Given the description of an element on the screen output the (x, y) to click on. 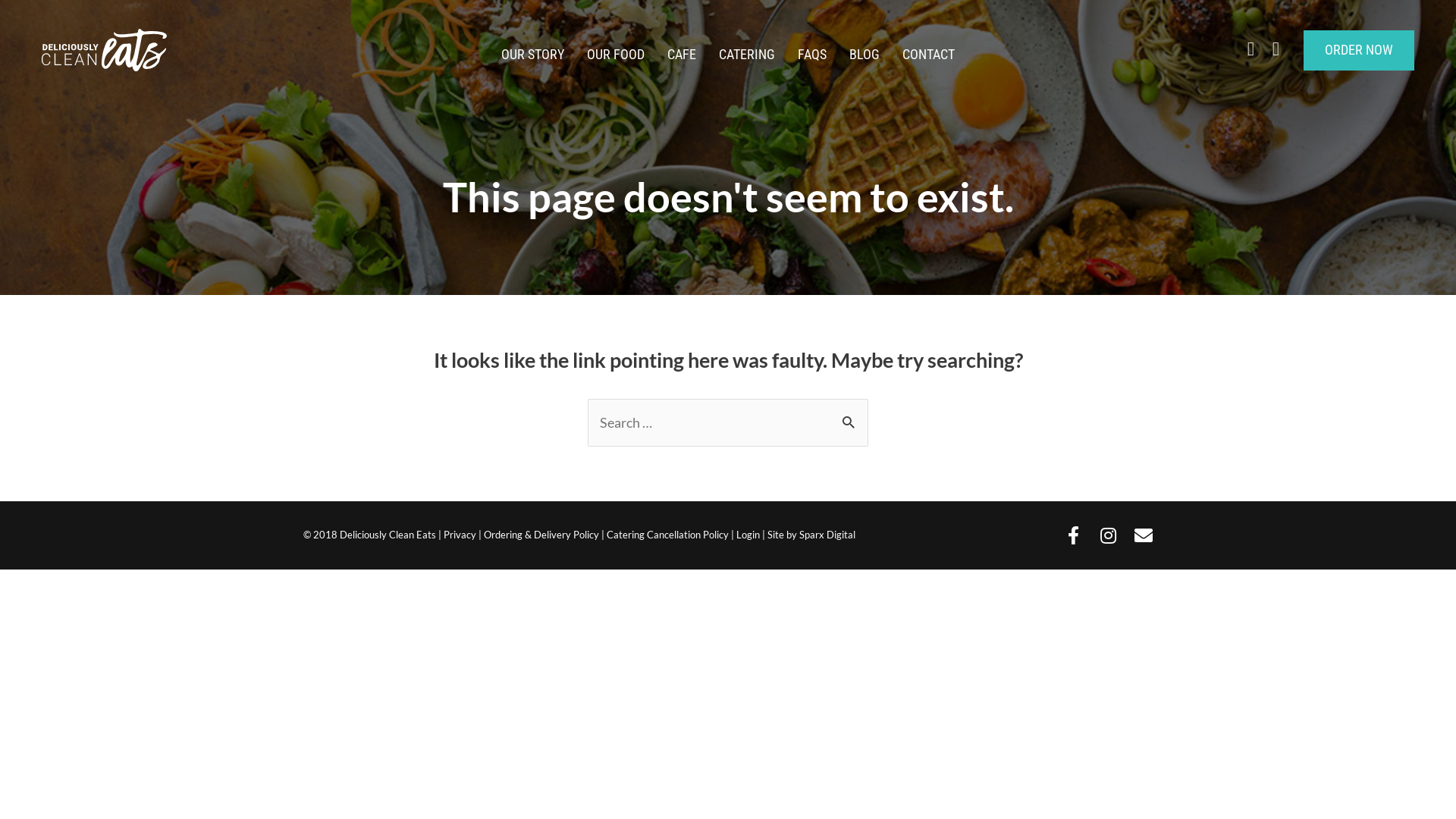
CAFE Element type: text (681, 54)
Search Element type: text (851, 420)
BLOG Element type: text (864, 54)
OUR STORY Element type: text (532, 54)
Login Element type: text (747, 534)
CATERING Element type: text (746, 54)
OUR FOOD Element type: text (615, 54)
Privacy Element type: text (459, 534)
Sparx Digital Element type: text (827, 534)
Catering Cancellation Policy Element type: text (667, 534)
CONTACT Element type: text (928, 54)
ORDER NOW Element type: text (1358, 50)
FAQS Element type: text (811, 54)
Ordering & Delivery Policy Element type: text (541, 534)
